Given the description of an element on the screen output the (x, y) to click on. 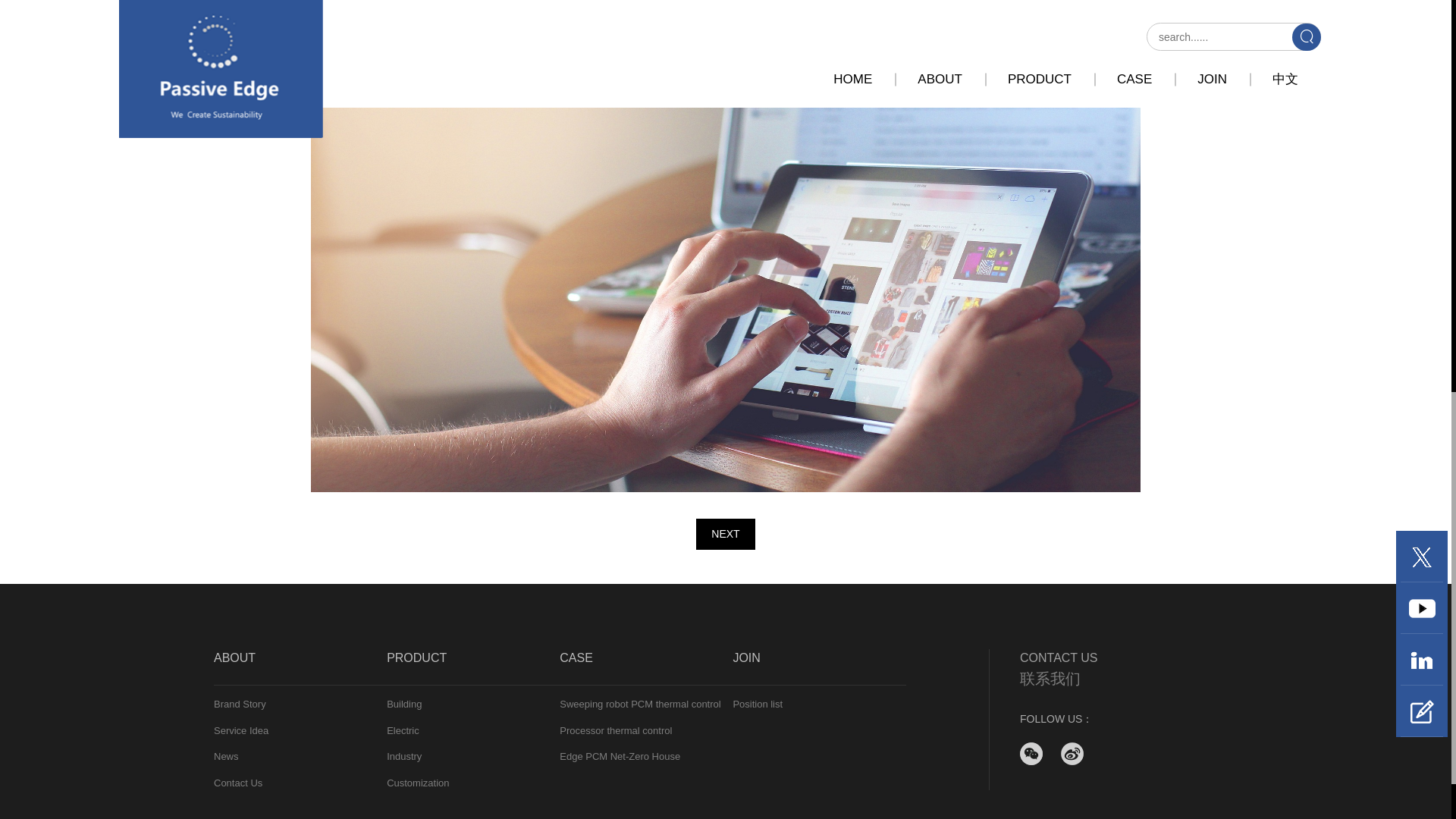
News (300, 756)
Service Idea (300, 730)
PRODUCT (473, 667)
Electric (473, 730)
ABOUT (300, 667)
Contact Us (300, 782)
CASE (645, 667)
Customization (473, 782)
Industry (473, 756)
Brand Story (300, 703)
NEXT (724, 533)
Building (473, 703)
Sweeping robot PCM thermal control (645, 703)
